Given the description of an element on the screen output the (x, y) to click on. 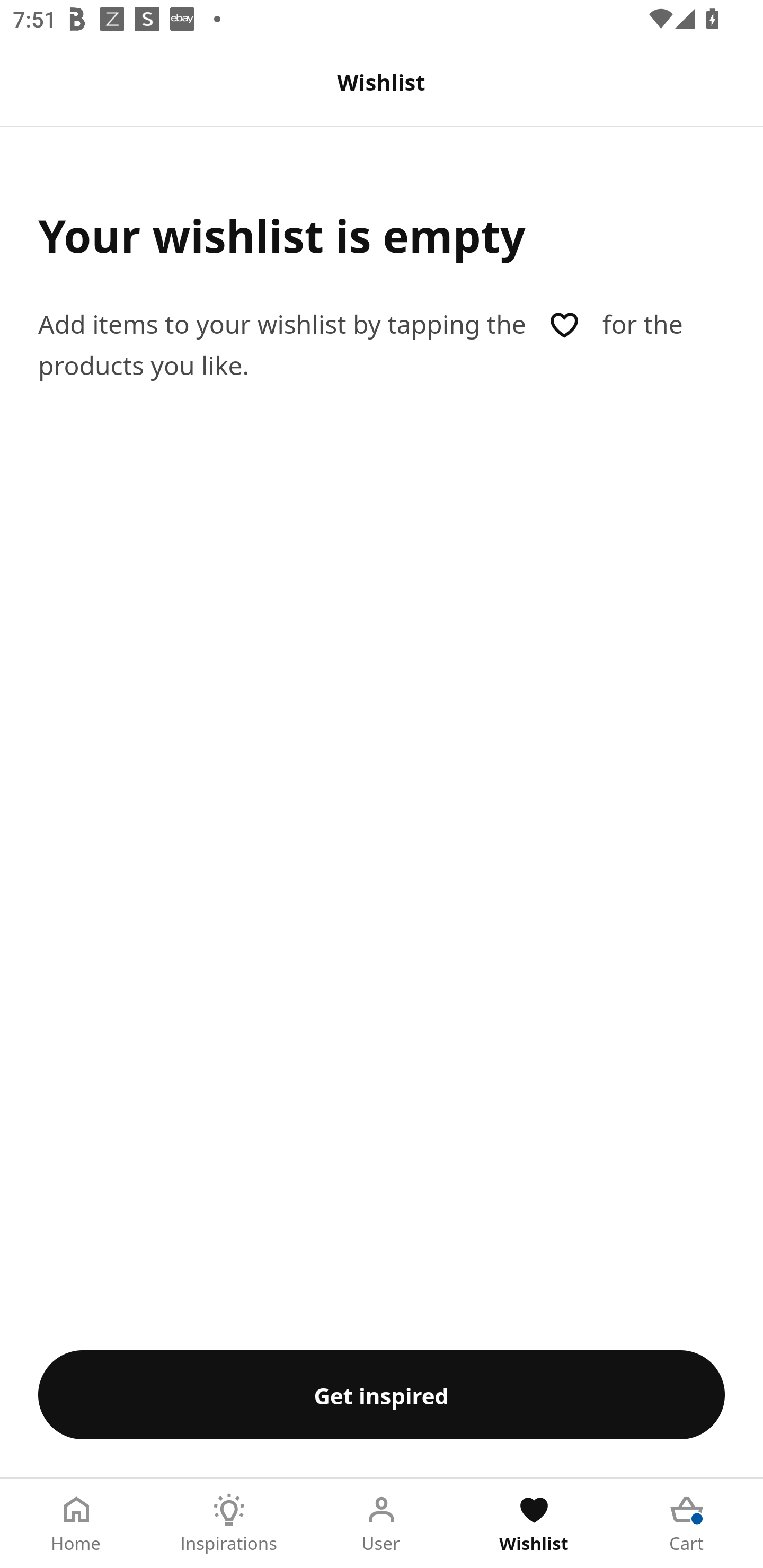
Get inspired (381, 1394)
Home
Tab 1 of 5 (76, 1522)
Inspirations
Tab 2 of 5 (228, 1522)
User
Tab 3 of 5 (381, 1522)
Wishlist
Tab 4 of 5 (533, 1522)
Cart
Tab 5 of 5 (686, 1522)
